Given the description of an element on the screen output the (x, y) to click on. 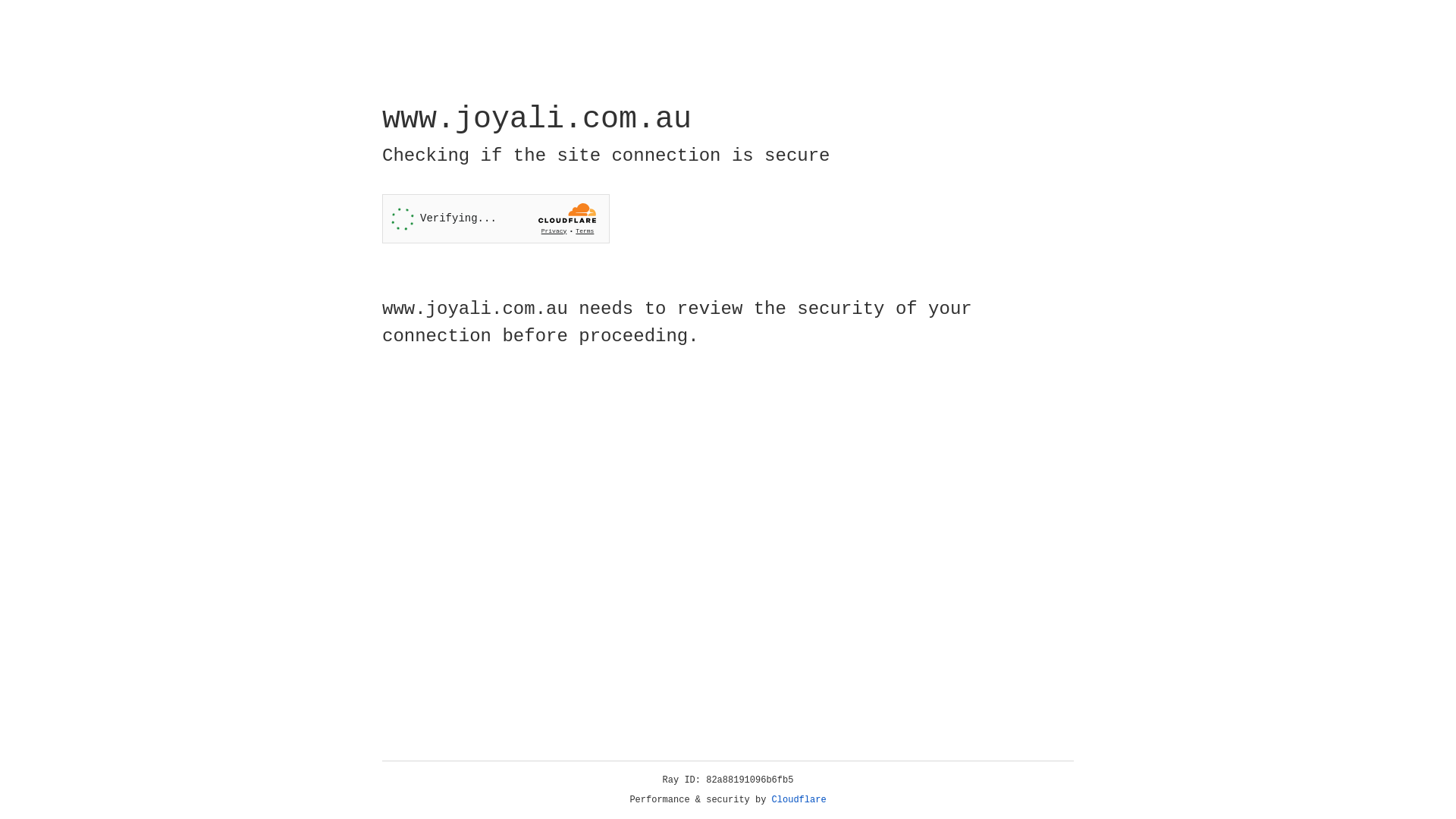
Widget containing a Cloudflare security challenge Element type: hover (495, 218)
Cloudflare Element type: text (798, 799)
